Given the description of an element on the screen output the (x, y) to click on. 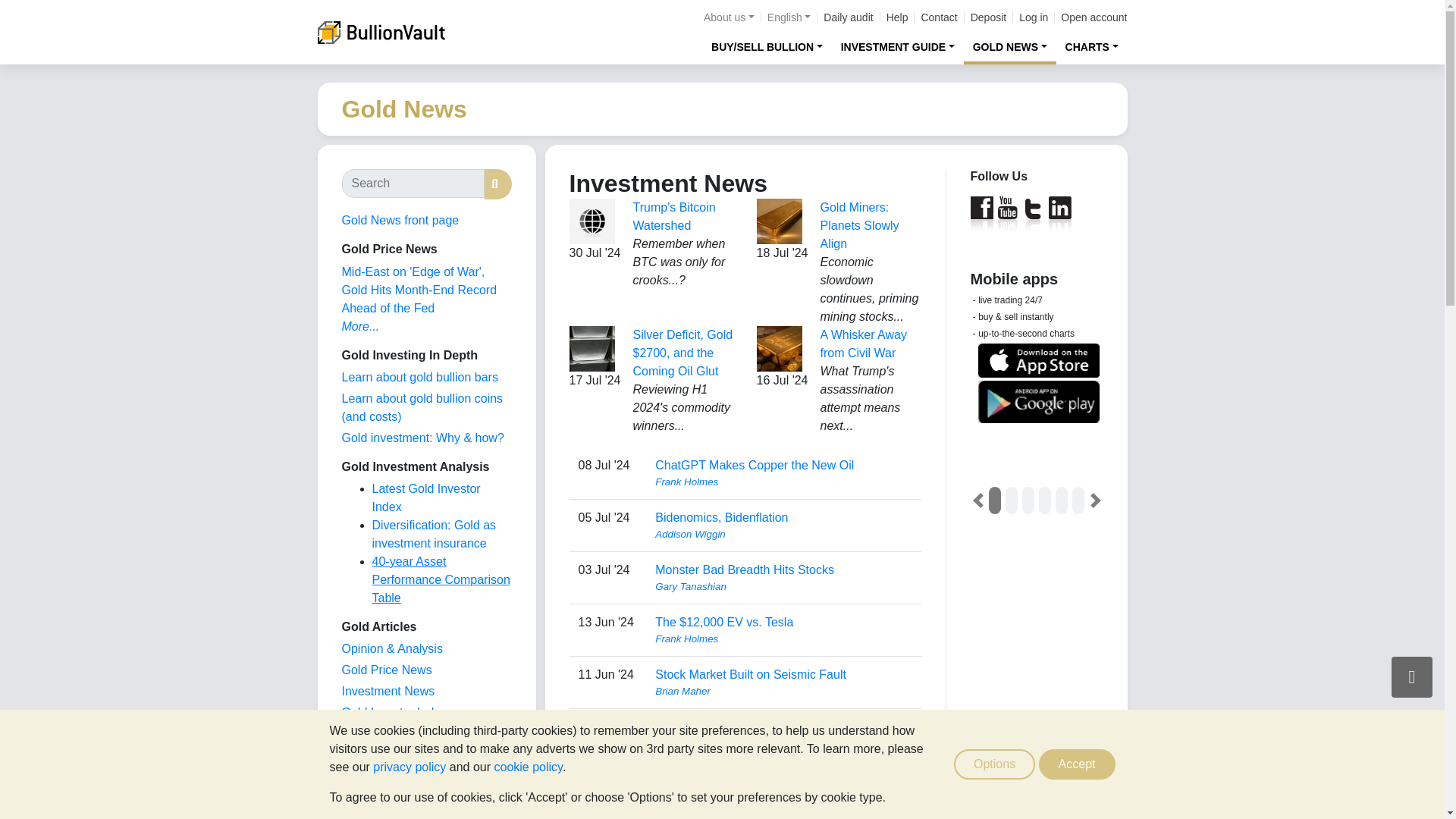
View user profile. (783, 691)
Investment News (386, 690)
Accept (1077, 764)
View user profile. (783, 534)
privacy policy (408, 766)
INVESTMENT GUIDE (897, 46)
Gold Price News (385, 669)
Books about Gold Reviewed (372, 797)
Gold in History (380, 775)
View user profile. (783, 795)
Deposit (988, 17)
Help (897, 17)
View user profile. (783, 639)
The View from the Vault (391, 648)
Log in (1033, 17)
